Given the description of an element on the screen output the (x, y) to click on. 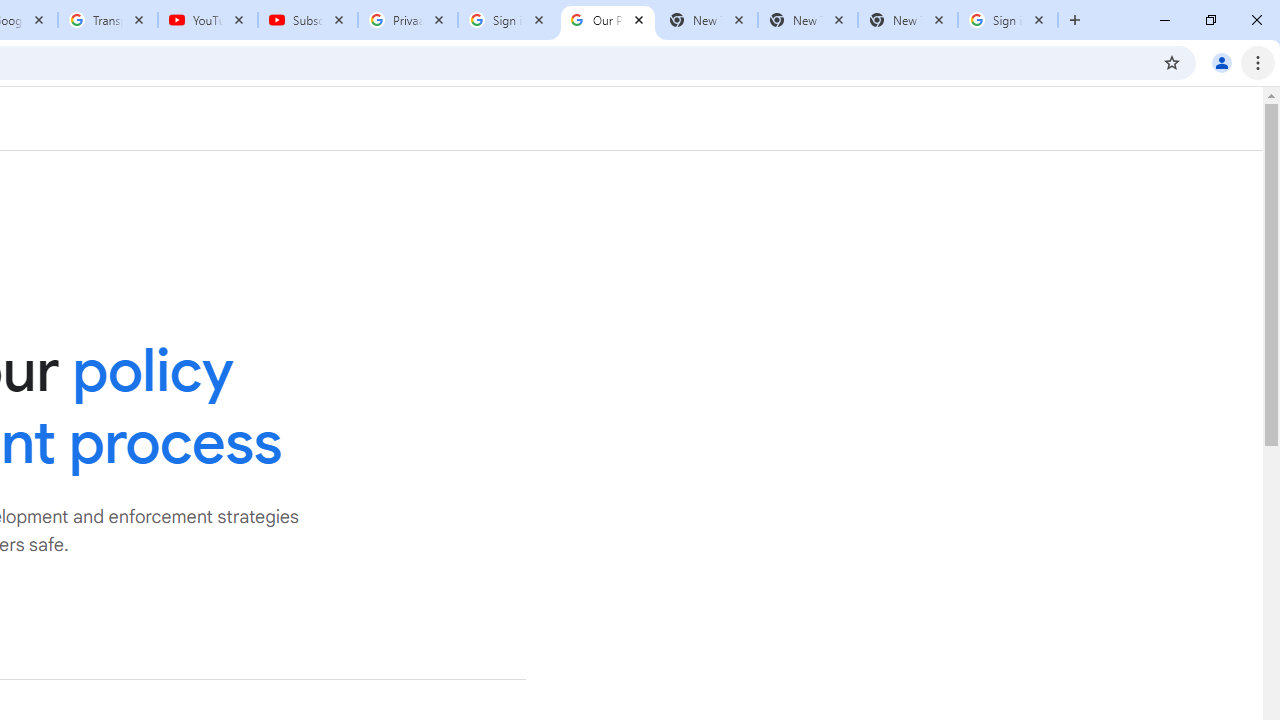
New Tab (907, 20)
Sign in - Google Accounts (1007, 20)
Subscriptions - YouTube (308, 20)
YouTube (207, 20)
Sign in - Google Accounts (508, 20)
